Given the description of an element on the screen output the (x, y) to click on. 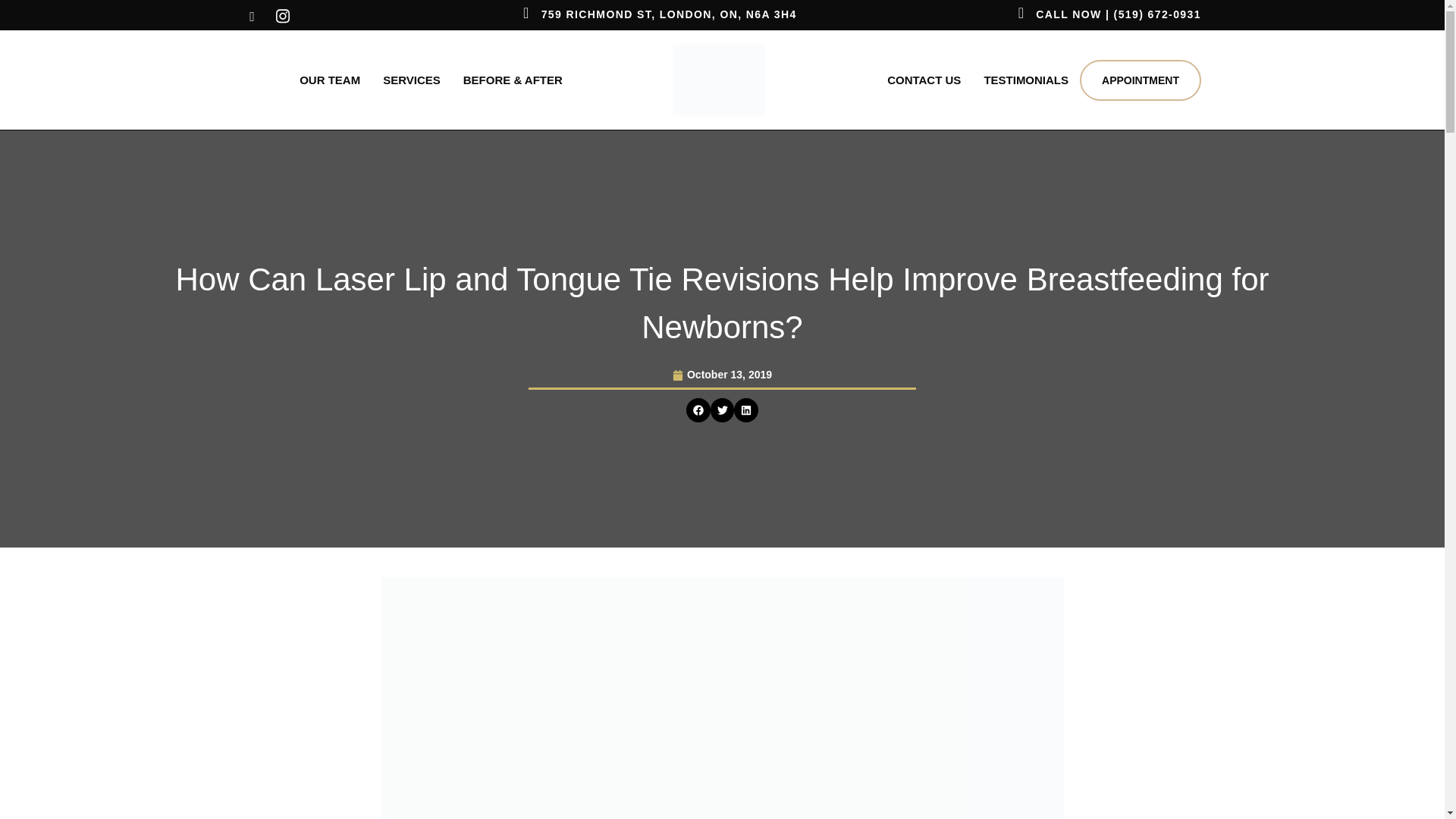
CONTACT US (924, 80)
759 RICHMOND ST, LONDON, ON, N6A 3H4 (668, 14)
SERVICES (411, 80)
APPOINTMENT (1140, 80)
TESTIMONIALS (1026, 80)
OUR TEAM (329, 80)
